Given the description of an element on the screen output the (x, y) to click on. 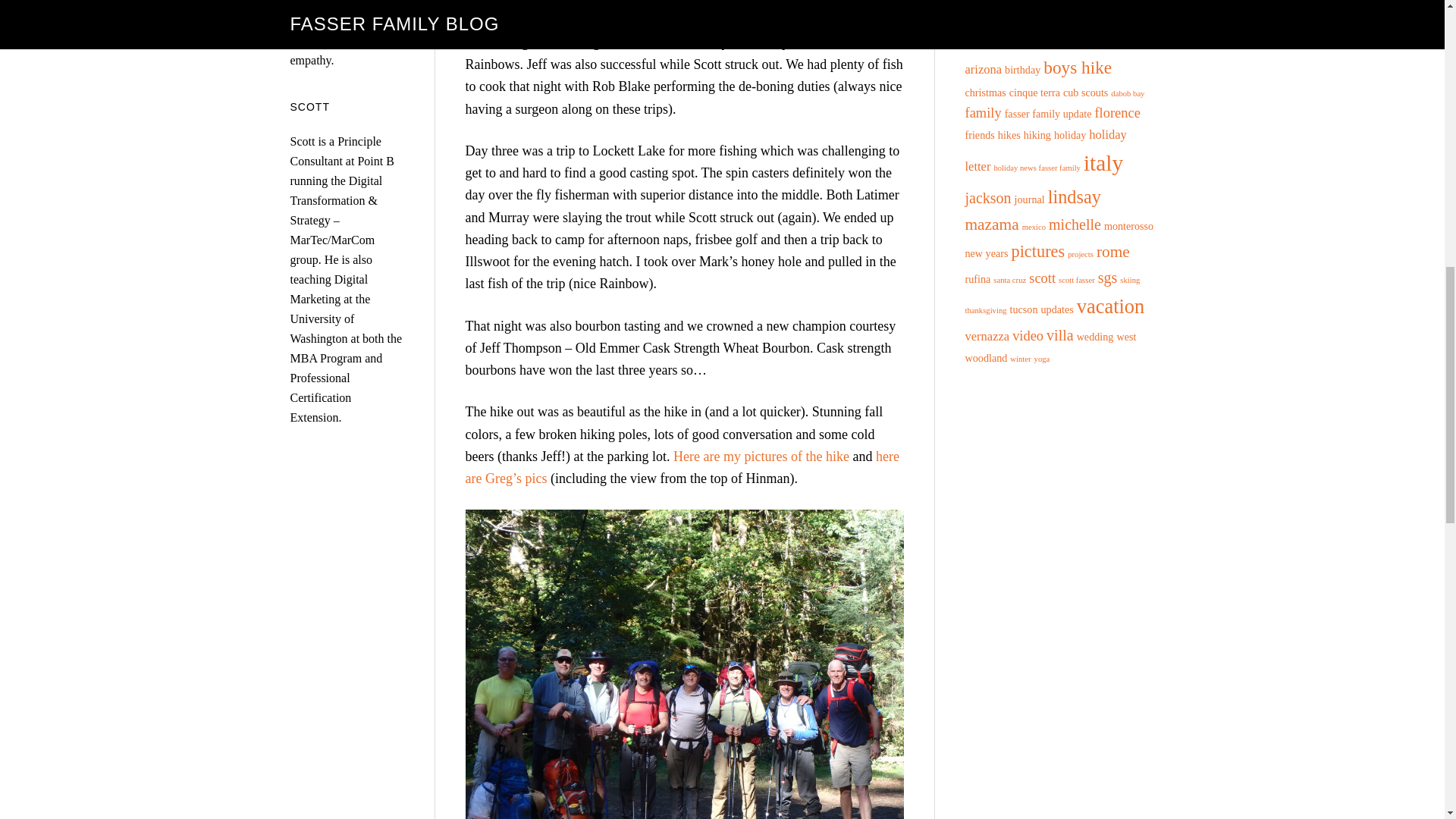
Here are my pictures of the hike (760, 456)
family (982, 112)
dabob bay (1127, 93)
fasser family update (1048, 113)
birthday (1022, 69)
cinque terra (1034, 92)
arizona (982, 69)
boys hike (1077, 66)
cub scouts (1085, 92)
christmas (984, 92)
